Given the description of an element on the screen output the (x, y) to click on. 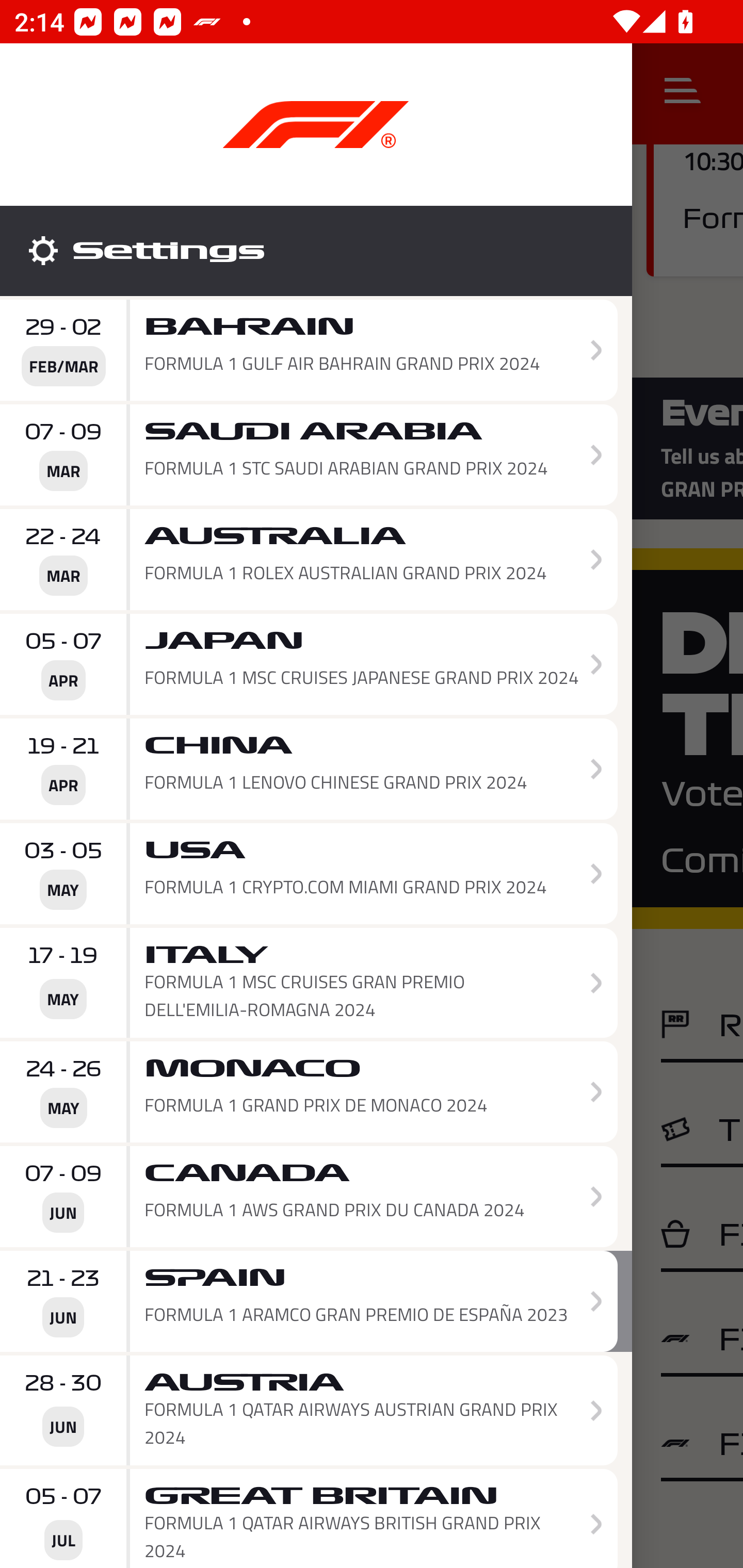
Settings (316, 250)
